Given the description of an element on the screen output the (x, y) to click on. 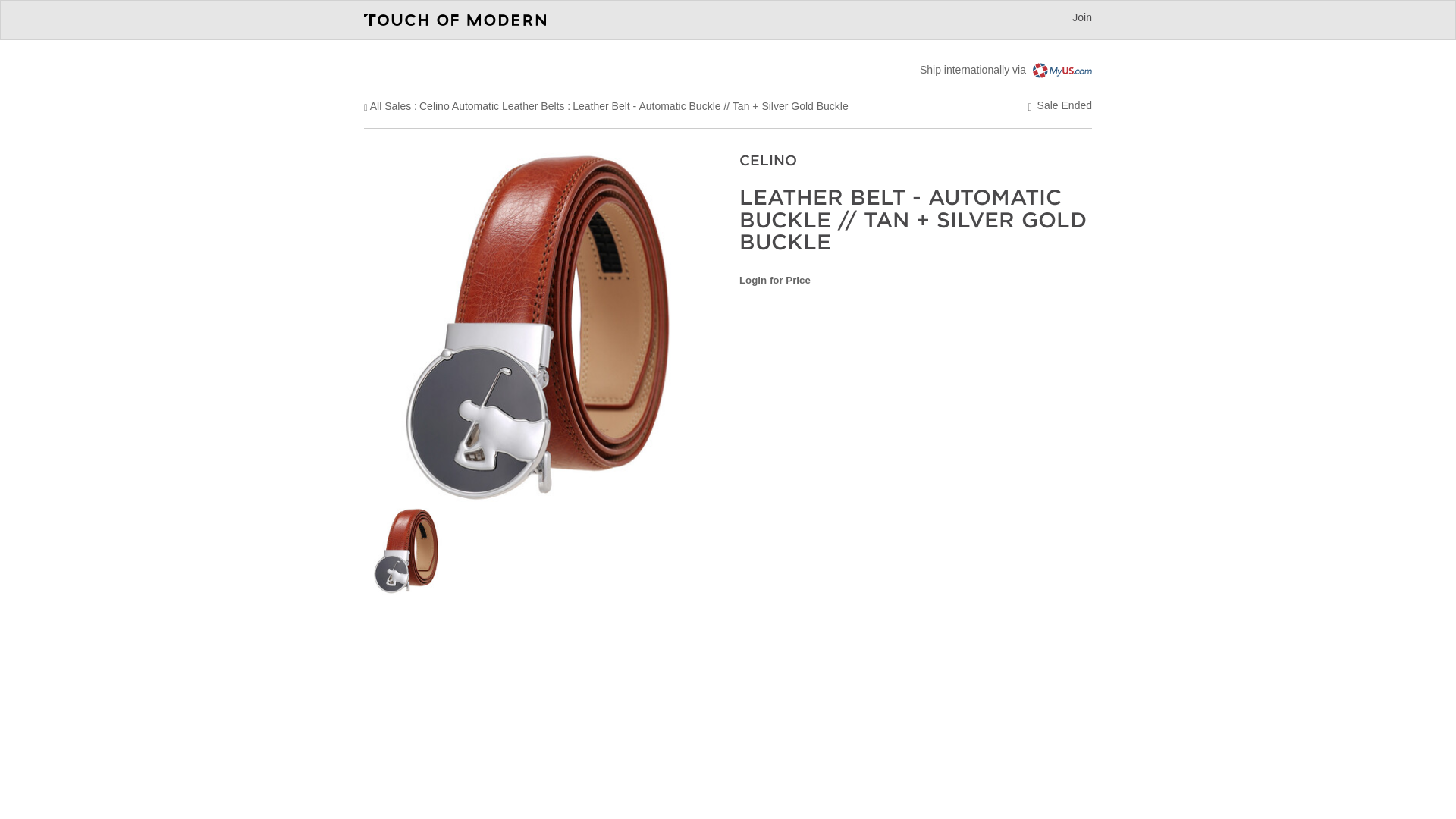
All Sales (389, 105)
Join (1081, 17)
Celino Automatic Leather Belts (491, 105)
All Sales (389, 105)
Ship internationally via (1006, 69)
Celino Automatic Leather Belts (491, 105)
